Given the description of an element on the screen output the (x, y) to click on. 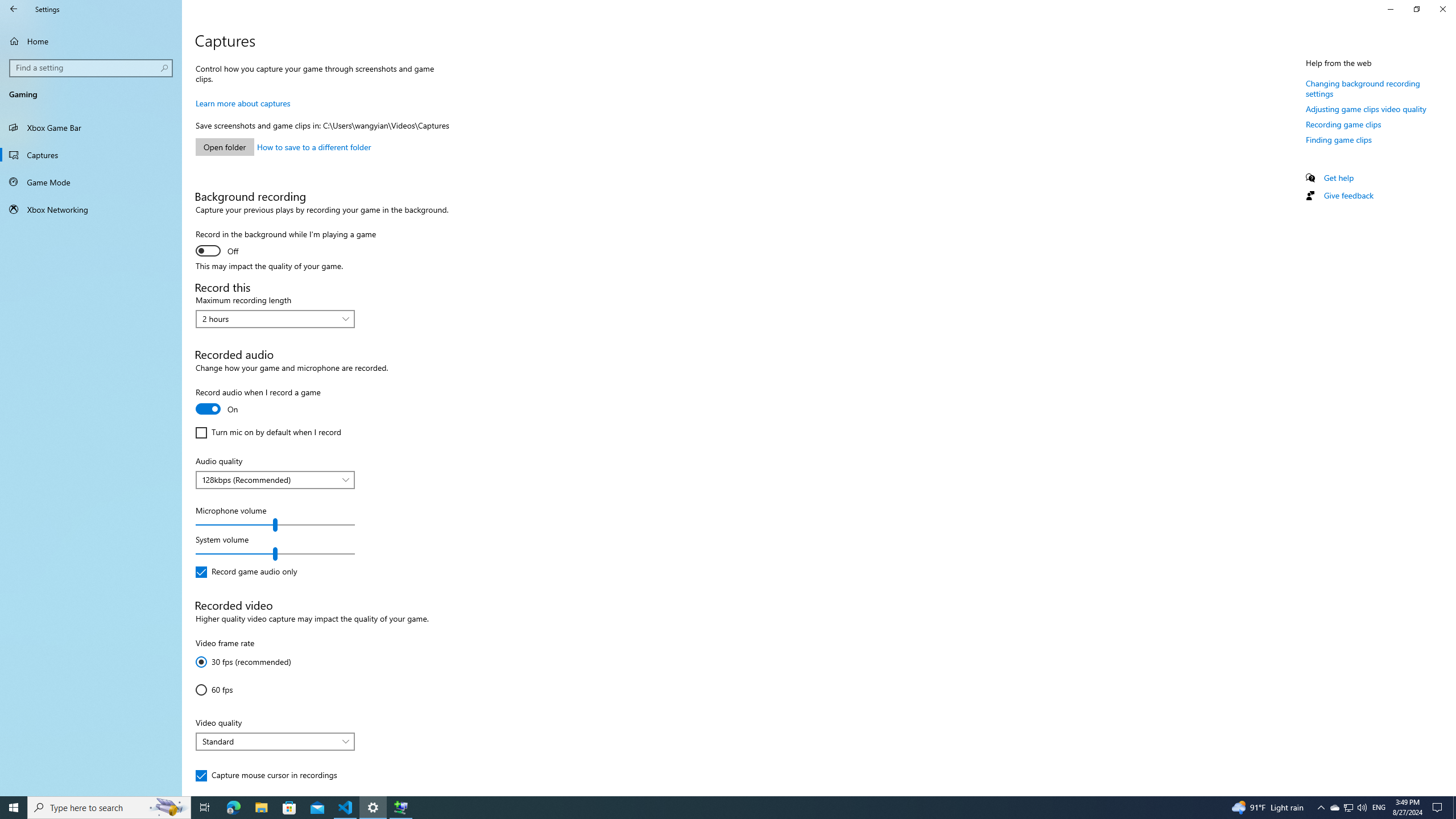
System volume (275, 553)
Xbox Game Bar (91, 126)
Learn more about captures (243, 102)
Turn mic on by default when I record (268, 432)
Audio quality (275, 479)
Open folder (224, 146)
